Given the description of an element on the screen output the (x, y) to click on. 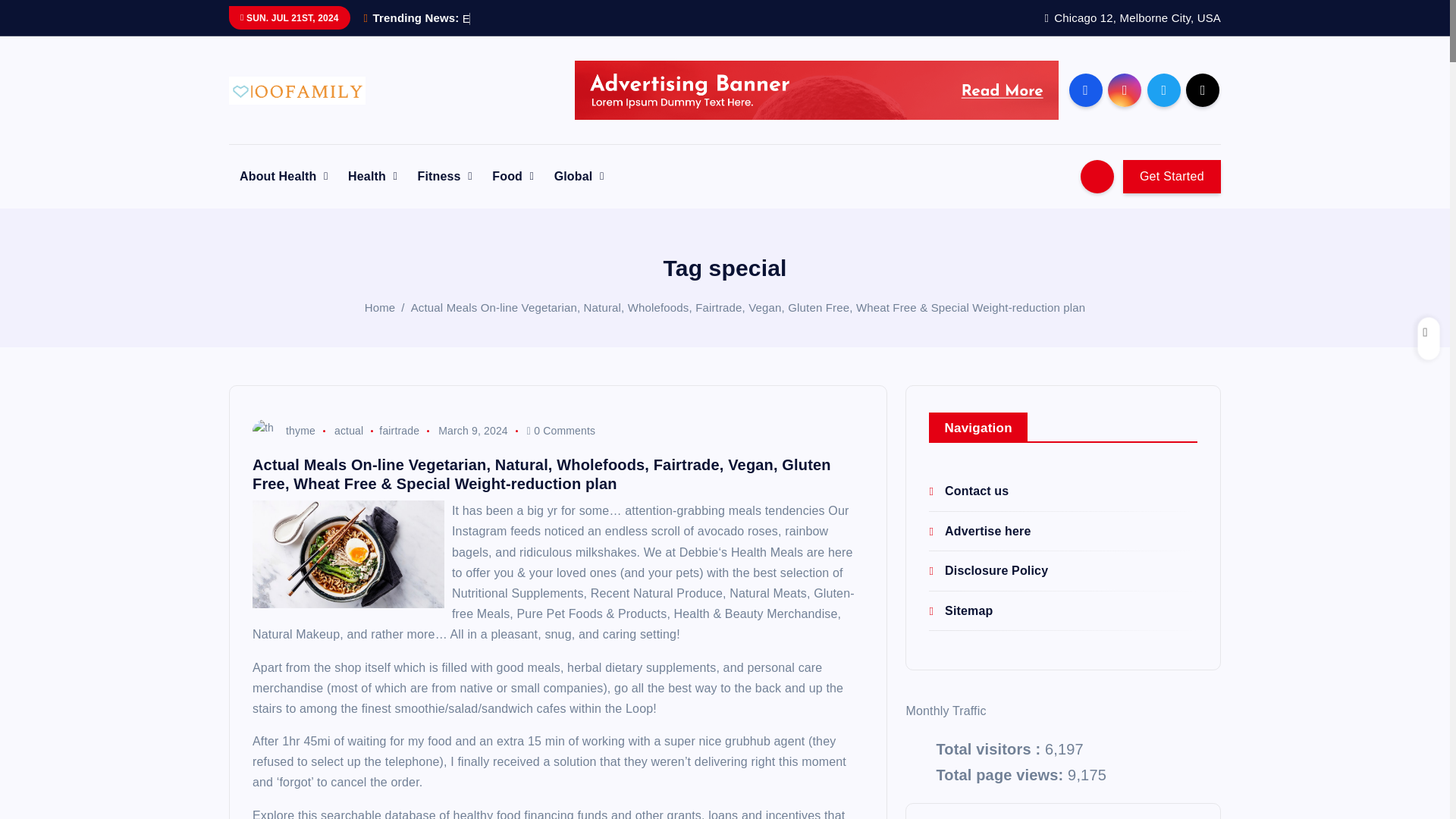
About Health (282, 176)
Food (512, 176)
About Health (282, 176)
Food (512, 176)
Health (372, 176)
Fitness (445, 176)
Fitness (445, 176)
Health (372, 176)
Global (578, 176)
